Given the description of an element on the screen output the (x, y) to click on. 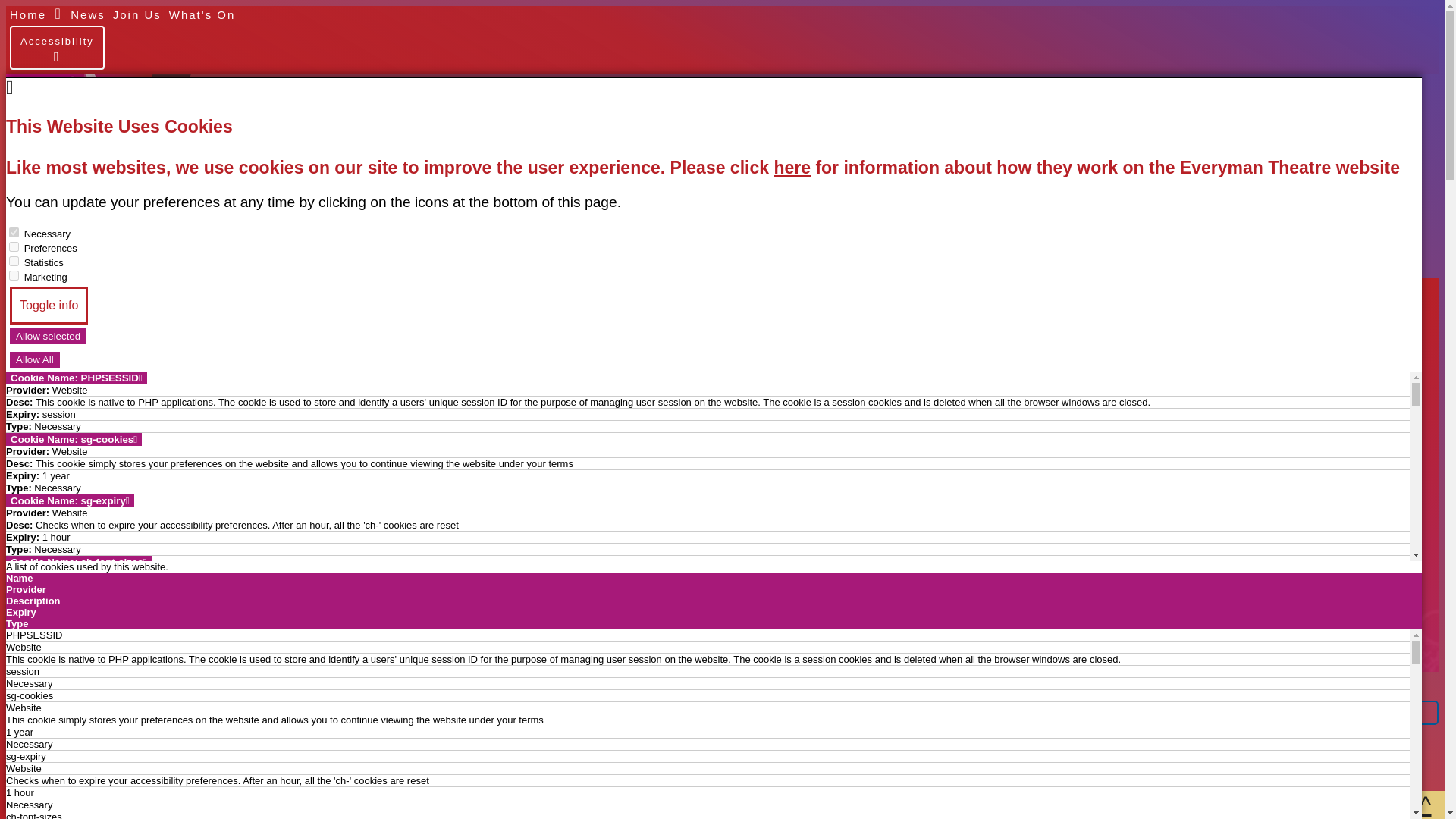
News (86, 14)
Home (22, 693)
marketing (13, 275)
Toggle info (48, 305)
Close Menu (63, 253)
Accessibility (57, 47)
preferences (13, 246)
necessary (13, 232)
Join Us (137, 14)
What's On (201, 14)
News (68, 693)
MENU (153, 253)
SEARCH (57, 252)
statistics (13, 261)
Allow selected (47, 335)
